Given the description of an element on the screen output the (x, y) to click on. 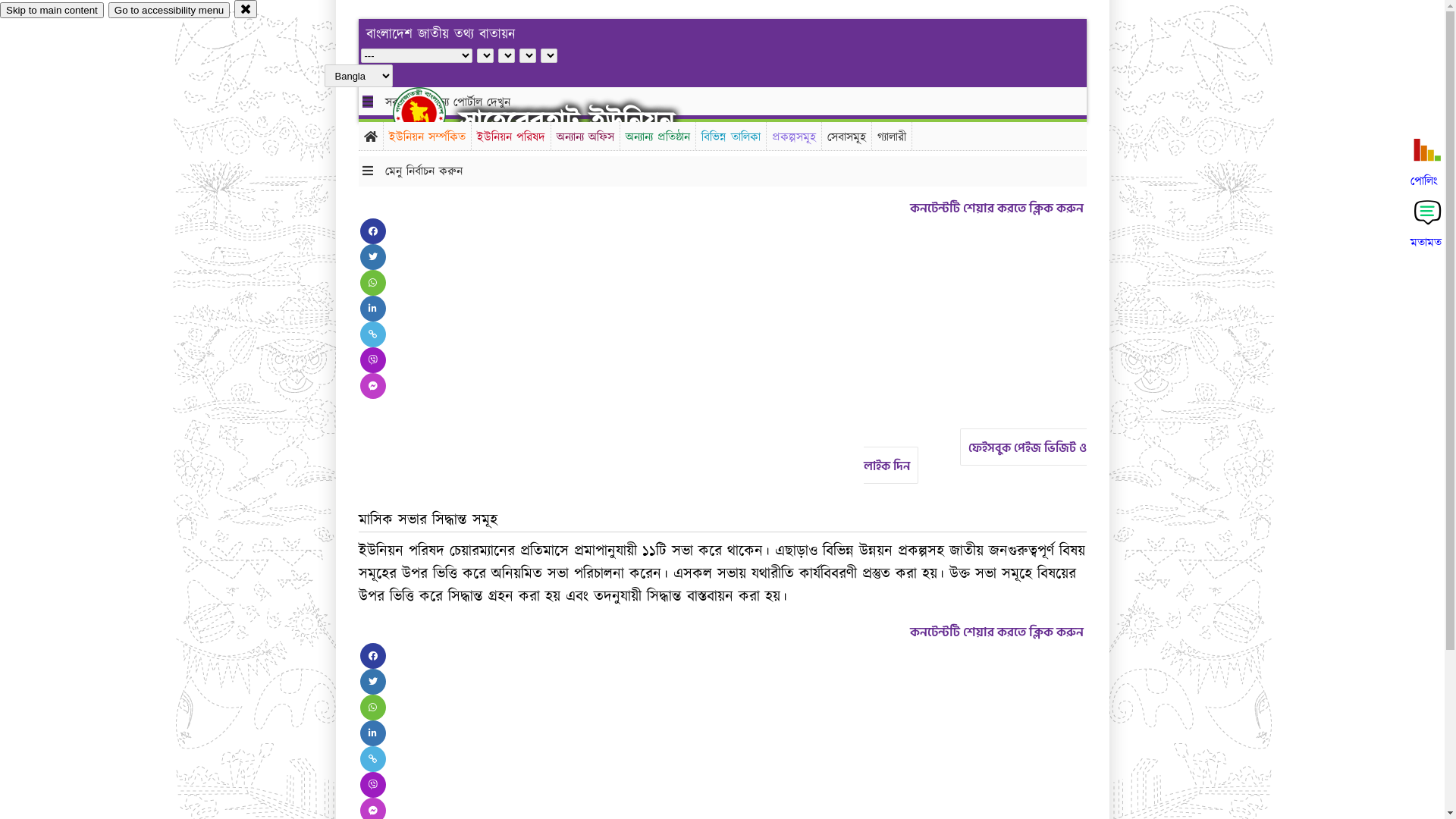
close Element type: hover (245, 9)
Go to accessibility menu Element type: text (168, 10)

                
             Element type: hover (431, 112)
Skip to main content Element type: text (51, 10)
